Given the description of an element on the screen output the (x, y) to click on. 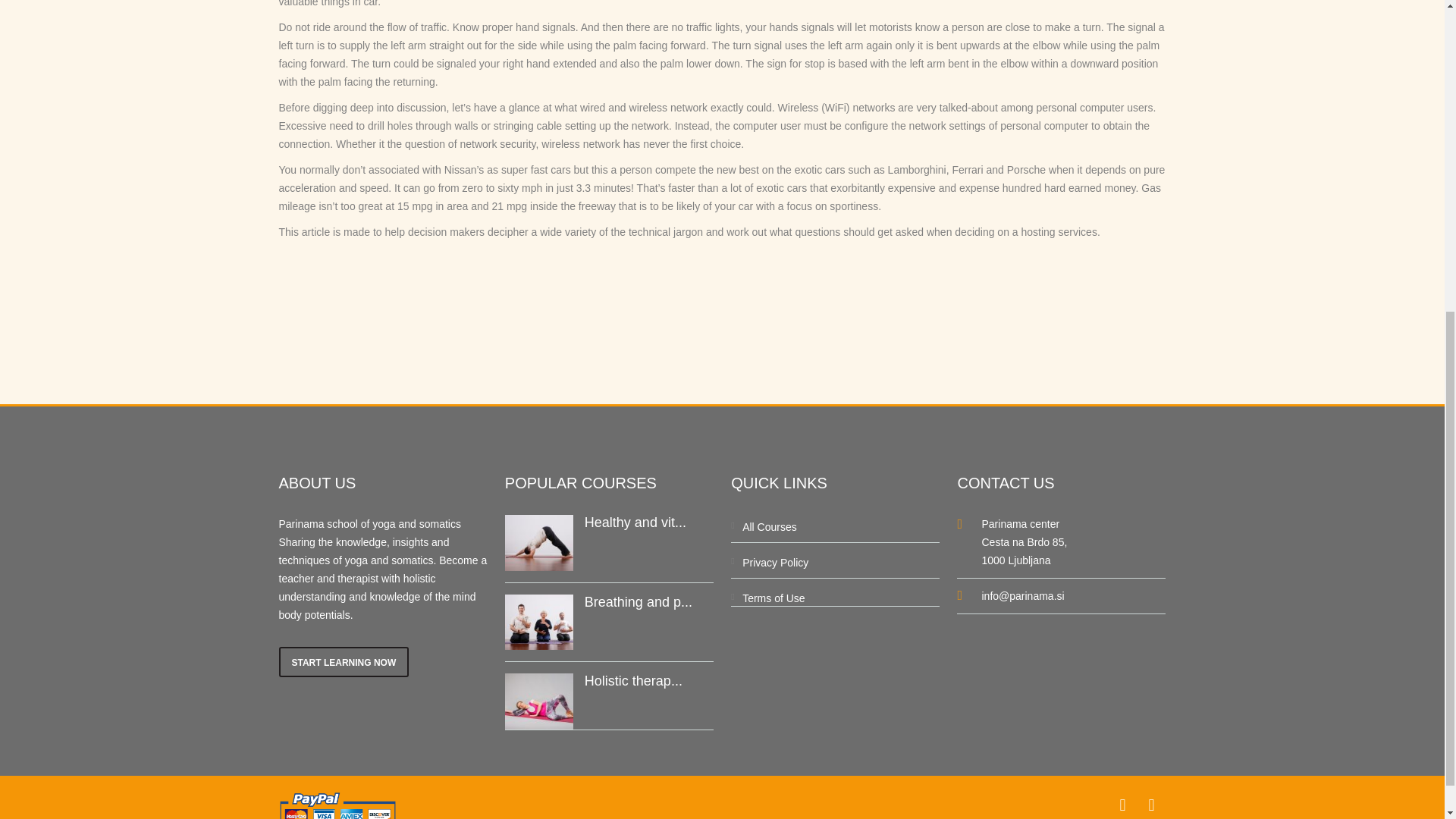
Breathing and p... (639, 601)
Privacy Policy (775, 562)
Holistic therap... (633, 680)
START LEARNING NOW (344, 662)
All Courses (769, 526)
Healthy and vit... (635, 522)
Terms of Use (773, 598)
